Given the description of an element on the screen output the (x, y) to click on. 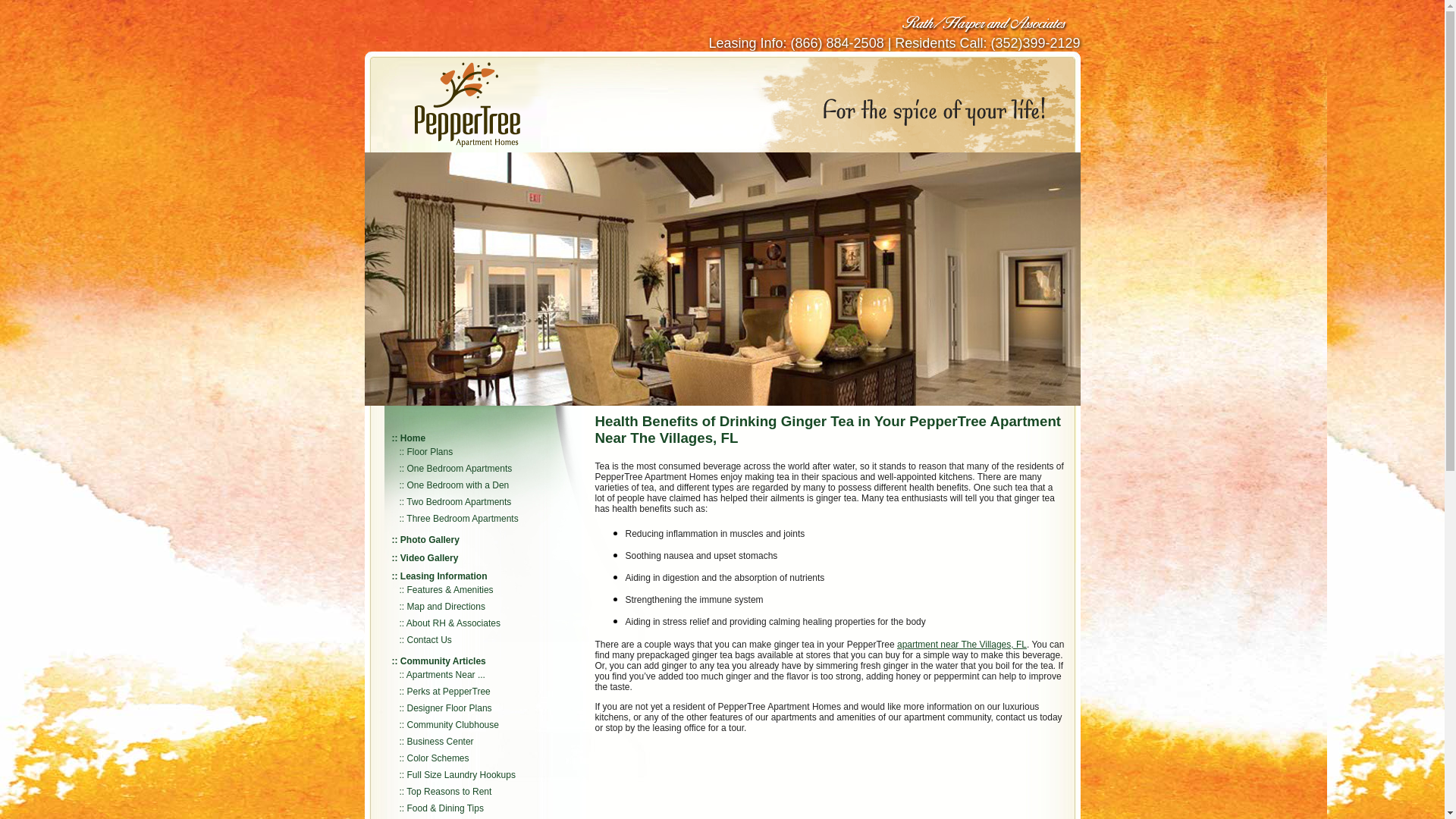
Color Schemes (437, 757)
Three Bedroom Apartments (462, 518)
Business Center (440, 741)
Video Gallery (429, 557)
Apartments Near ... (445, 674)
Perks at PepperTree (448, 691)
Photo Gallery (430, 539)
Community Clubhouse (453, 724)
Top Reasons to Rent (449, 791)
Map and Directions (445, 606)
Home (412, 438)
Floor Plans (429, 451)
Full Size Laundry Hookups (461, 774)
Leasing Information (443, 575)
Two Bedroom Apartments (458, 501)
